Given the description of an element on the screen output the (x, y) to click on. 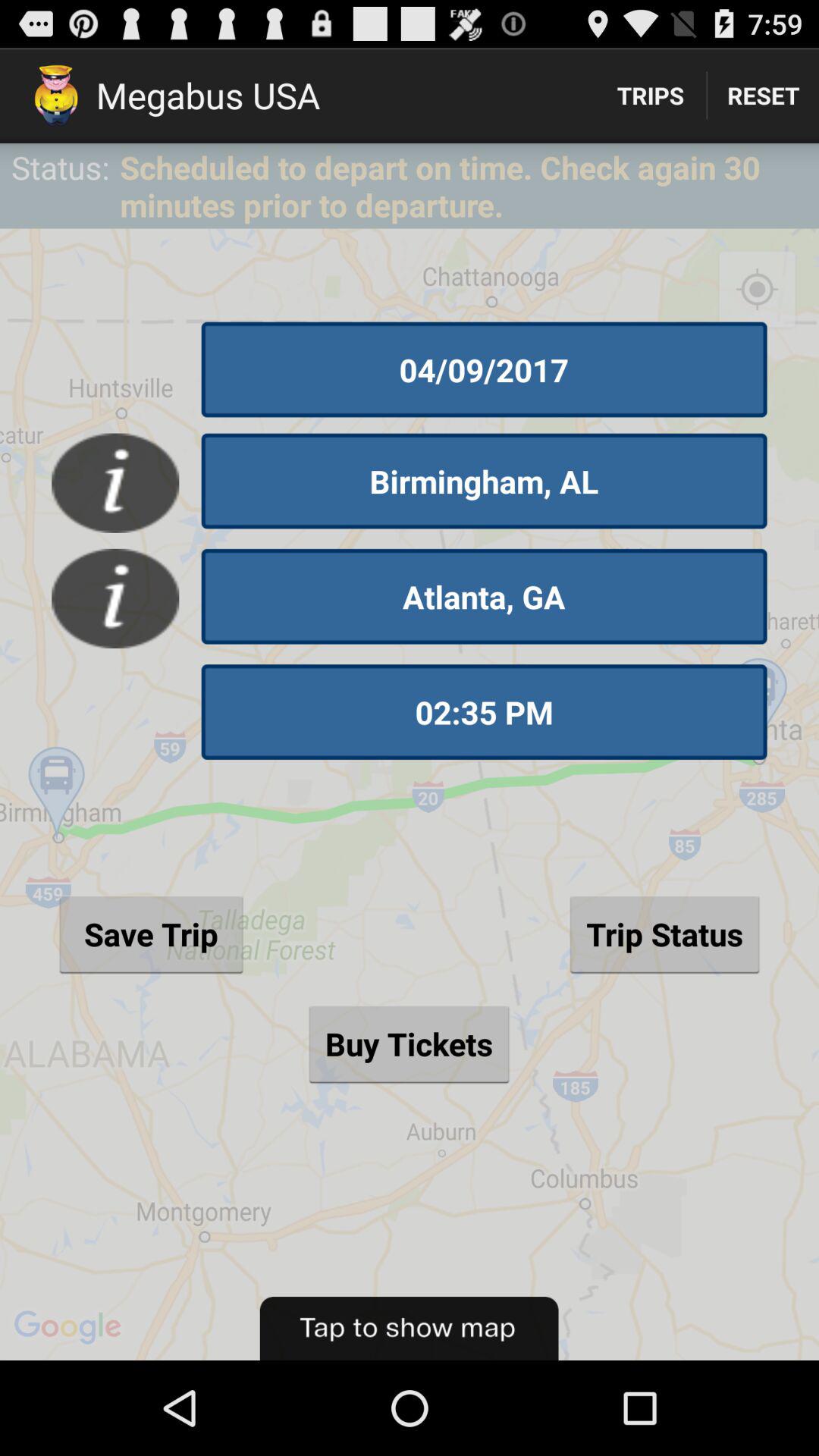
choose the item below 04/09/2017 icon (484, 480)
